Given the description of an element on the screen output the (x, y) to click on. 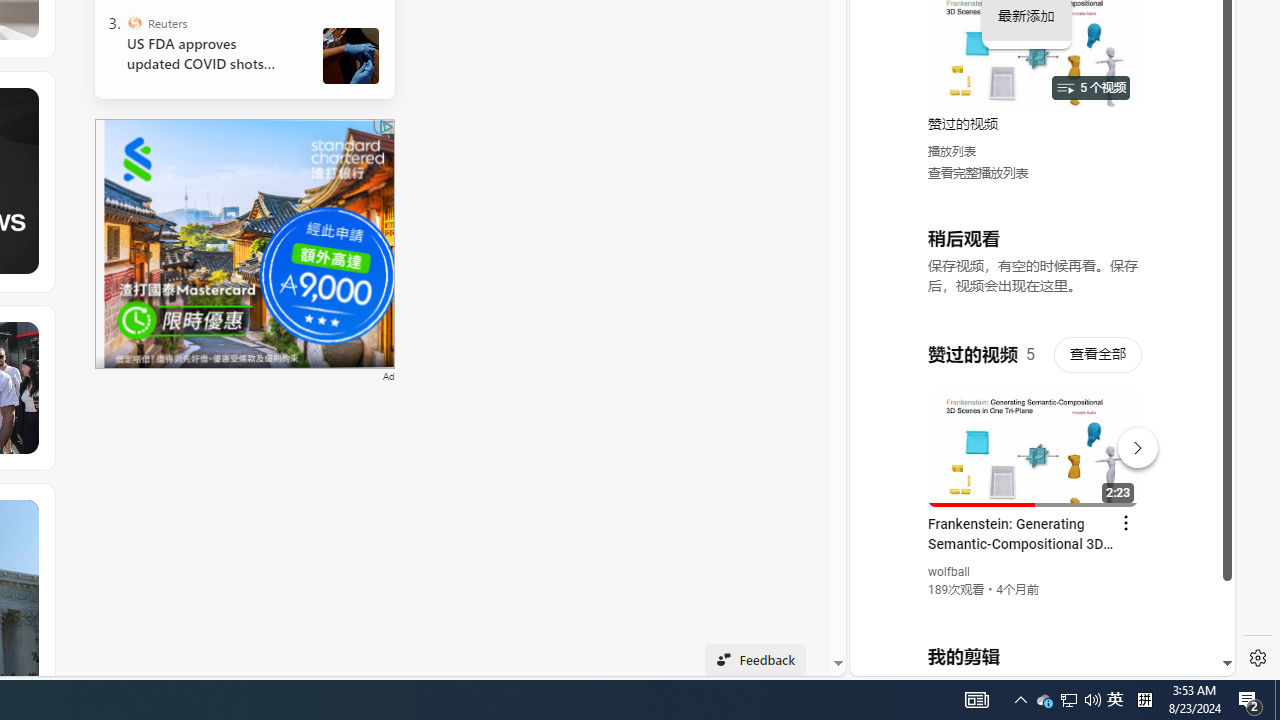
wolfball (949, 572)
US FDA approves updated COVID shots ahead of fall and winter (208, 53)
Class: qc-adchoices-icon (386, 126)
Actions for this site (1131, 443)
YouTube (1034, 432)
YouTube - YouTube (1034, 266)
